Given the description of an element on the screen output the (x, y) to click on. 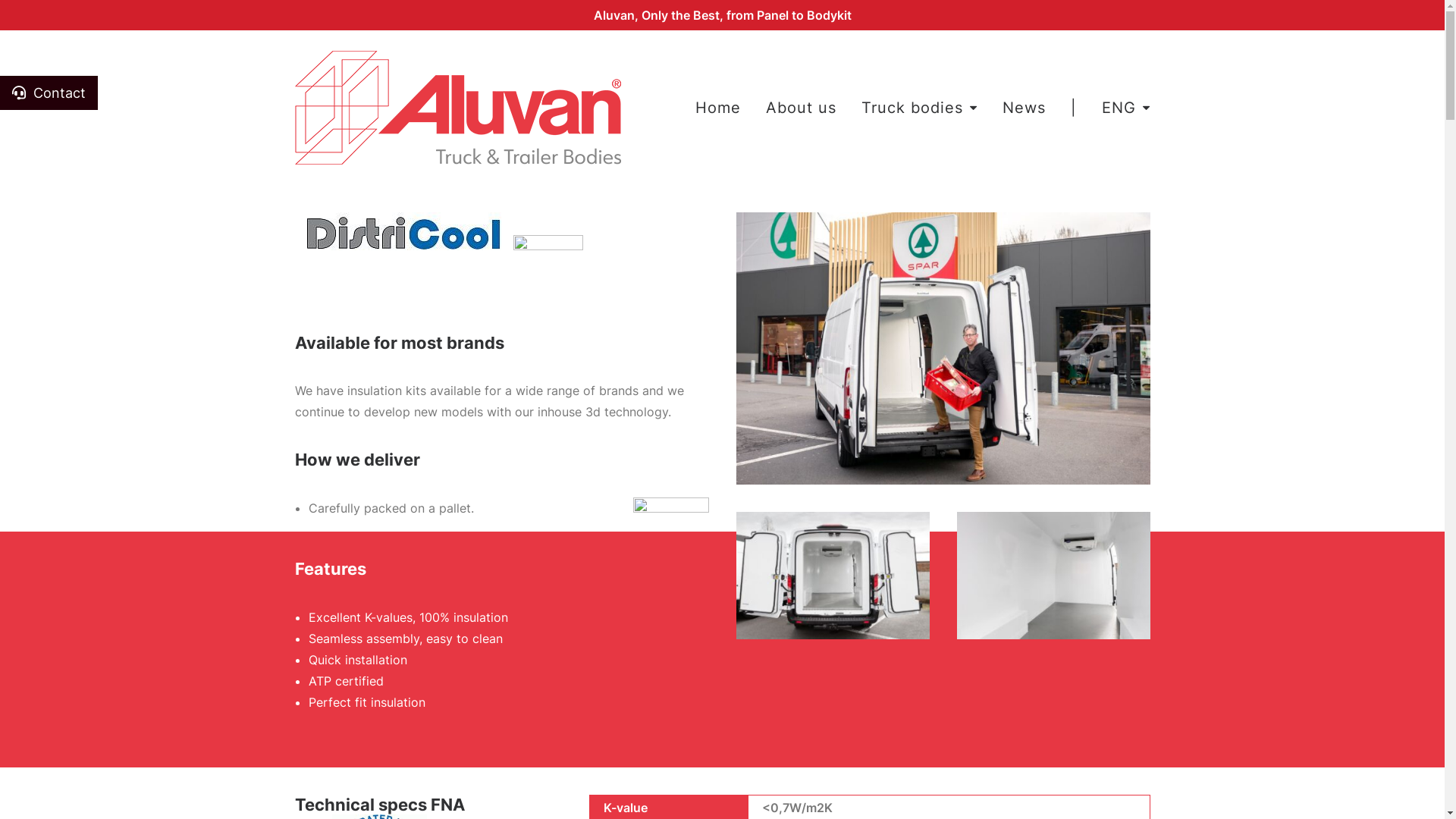
Truck bodies Element type: text (919, 107)
| Element type: text (1073, 107)
About us Element type: text (801, 107)
News Element type: text (1023, 107)
ENG Element type: text (1120, 107)
Contact Element type: text (48, 92)
Home Element type: text (723, 107)
